Given the description of an element on the screen output the (x, y) to click on. 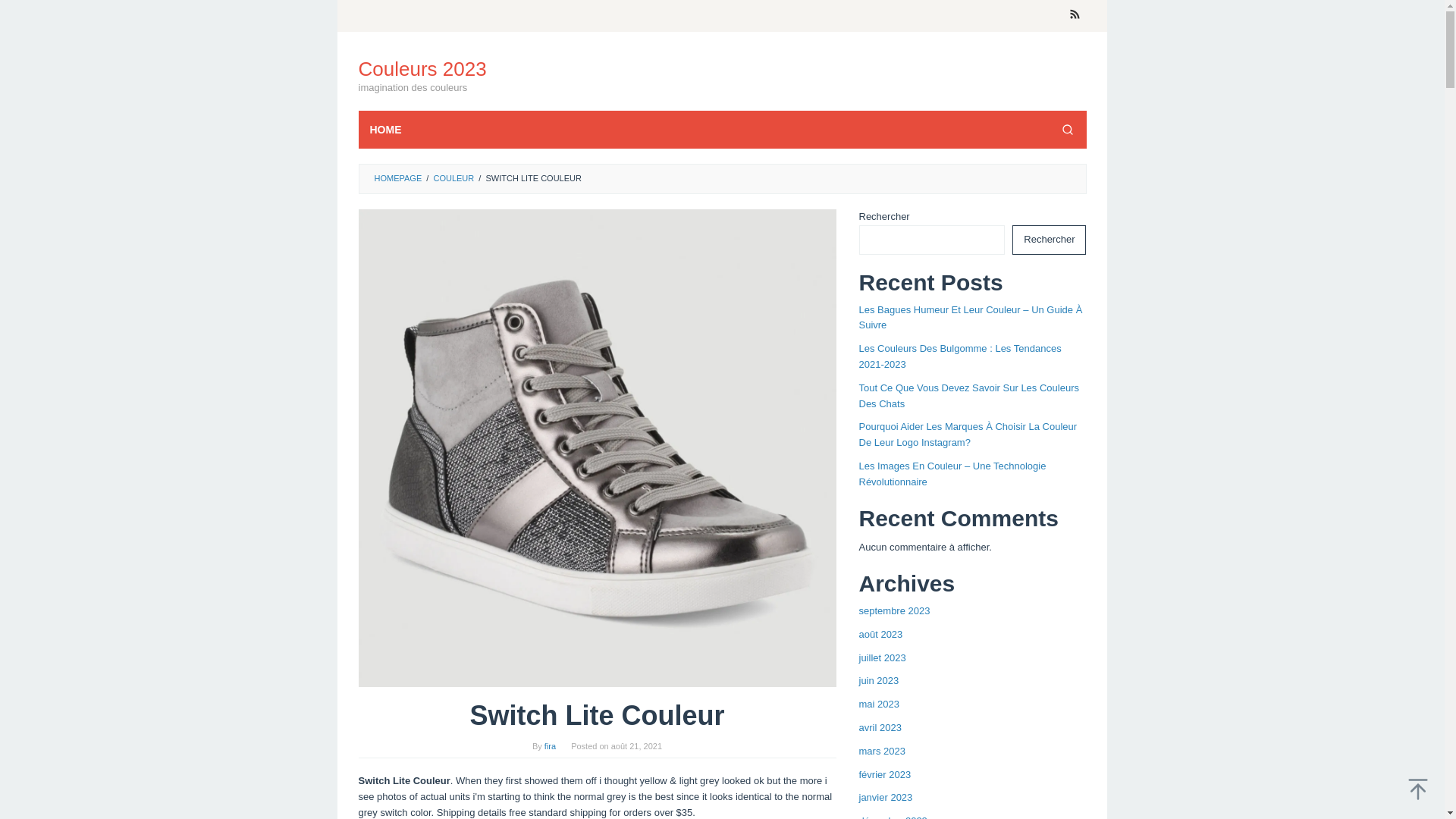
mars 2023 (881, 750)
juillet 2023 (882, 657)
Les Couleurs Des Bulgomme : Les Tendances 2021-2023 (960, 356)
Rechercher (1048, 239)
avril 2023 (880, 727)
COULEUR (453, 177)
Couleurs 2023 (422, 68)
juin 2023 (878, 680)
fira (550, 746)
mai 2023 (878, 704)
Search (1067, 129)
Permalink to: fira (550, 746)
septembre 2023 (894, 610)
HOME (385, 129)
